Given the description of an element on the screen output the (x, y) to click on. 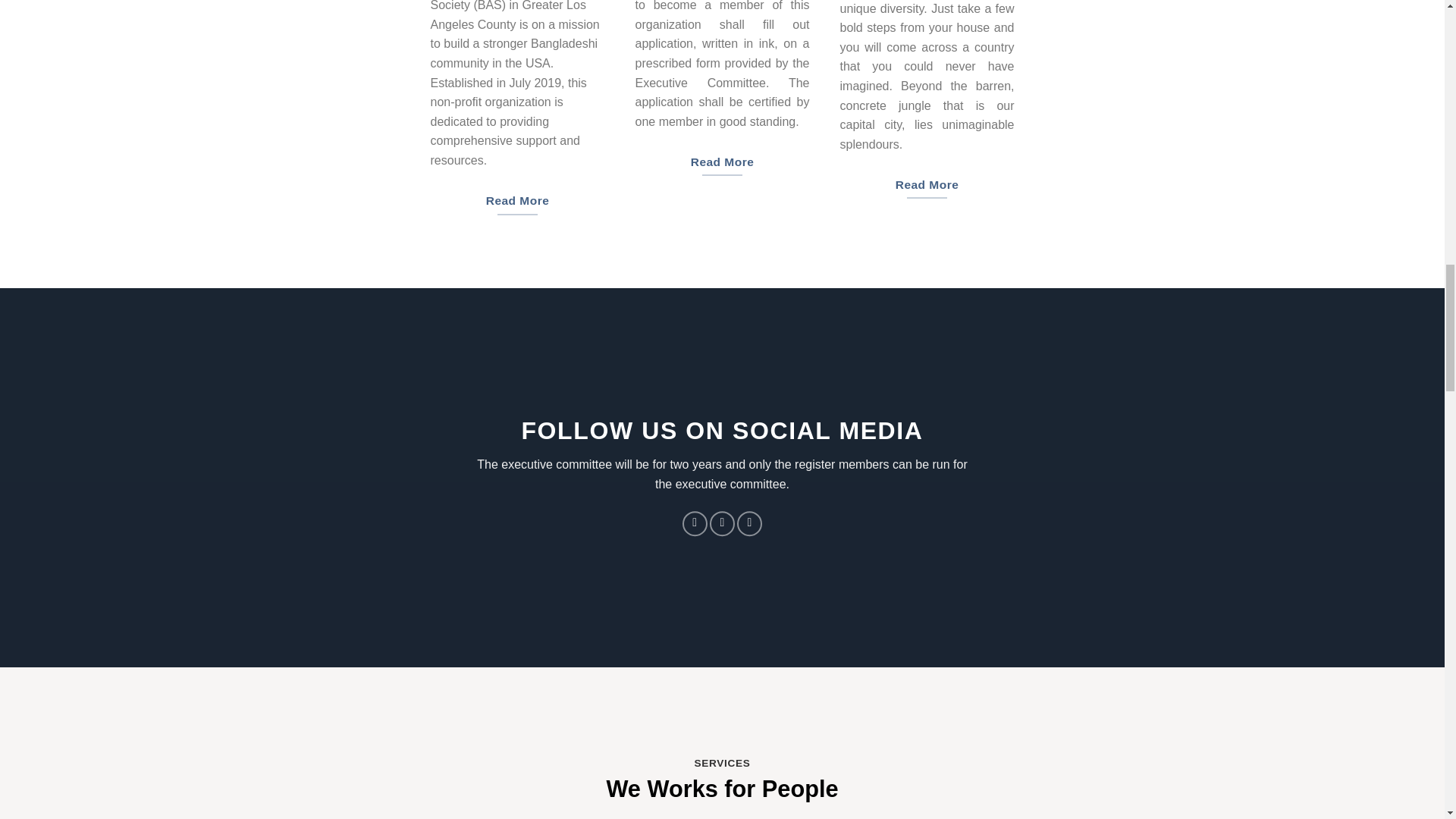
Follow on Instagram (722, 523)
Follow on Facebook (694, 523)
Follow on LinkedIn (748, 523)
